Given the description of an element on the screen output the (x, y) to click on. 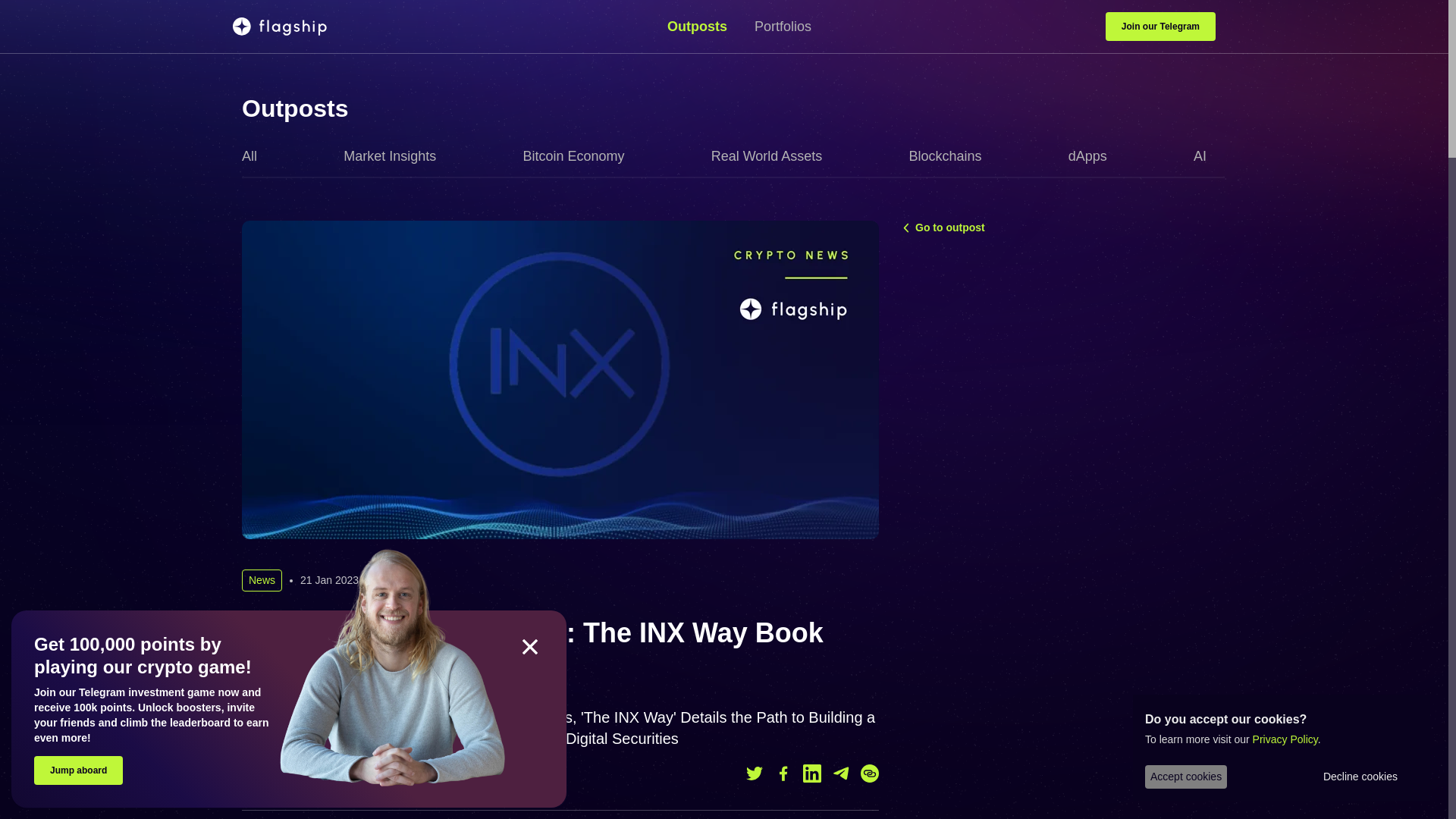
Bitcoin Economy (579, 155)
By: Flagship Team (301, 773)
Market Insights (395, 155)
Join our Telegram (1160, 26)
Real World Assets (772, 155)
Outposts (294, 108)
Portfolios (782, 26)
Blockchains (951, 155)
News (261, 580)
dApps (1093, 155)
Outposts (702, 26)
All (255, 155)
